Given the description of an element on the screen output the (x, y) to click on. 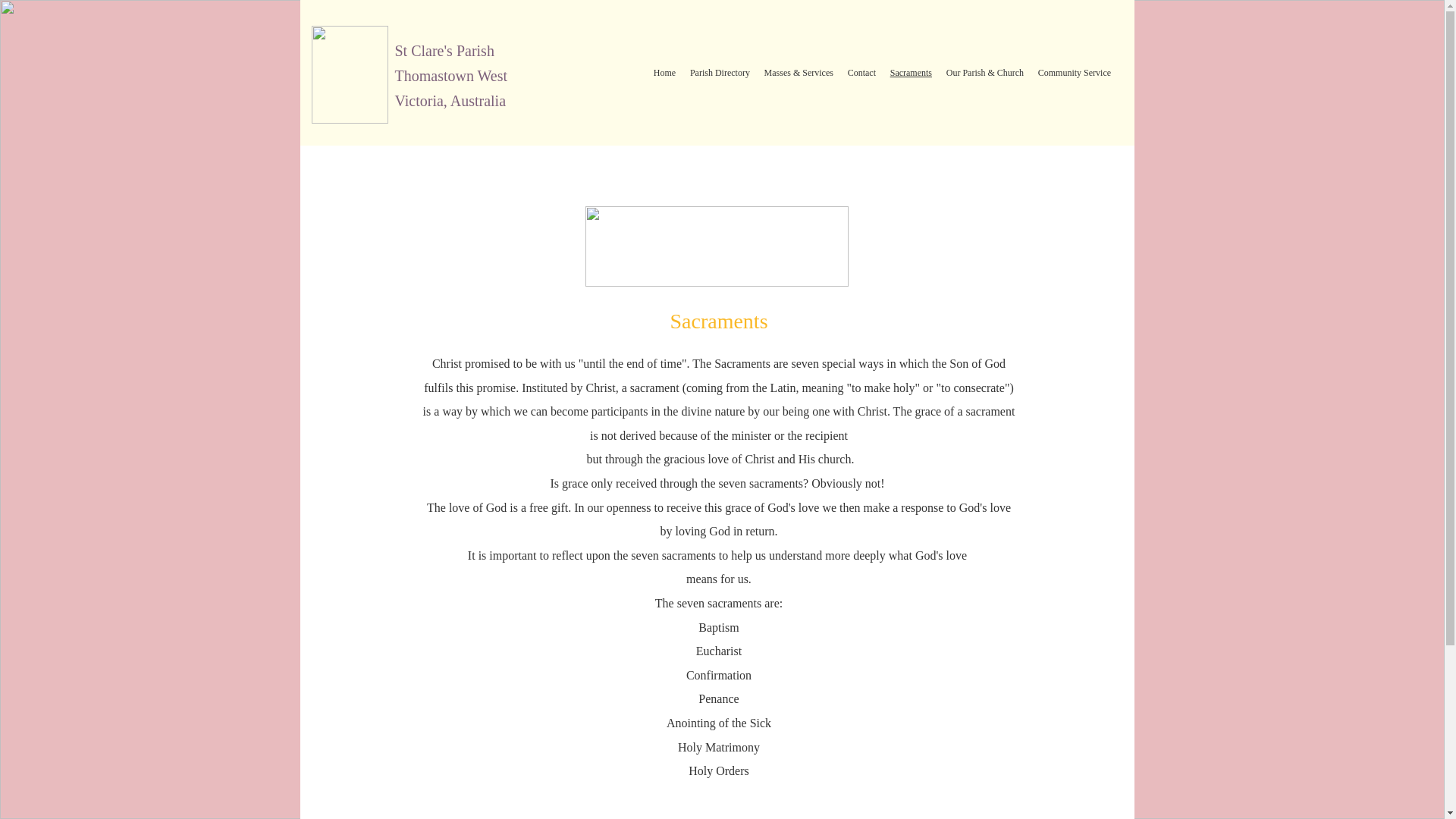
Masses & Services Element type: text (798, 72)
Parish Directory Element type: text (720, 72)
Community Service Element type: text (1073, 72)
Contact Element type: text (861, 72)
Sacraments Element type: text (910, 72)
Home Element type: text (664, 72)
Our Parish & Church Element type: text (984, 72)
